Given the description of an element on the screen output the (x, y) to click on. 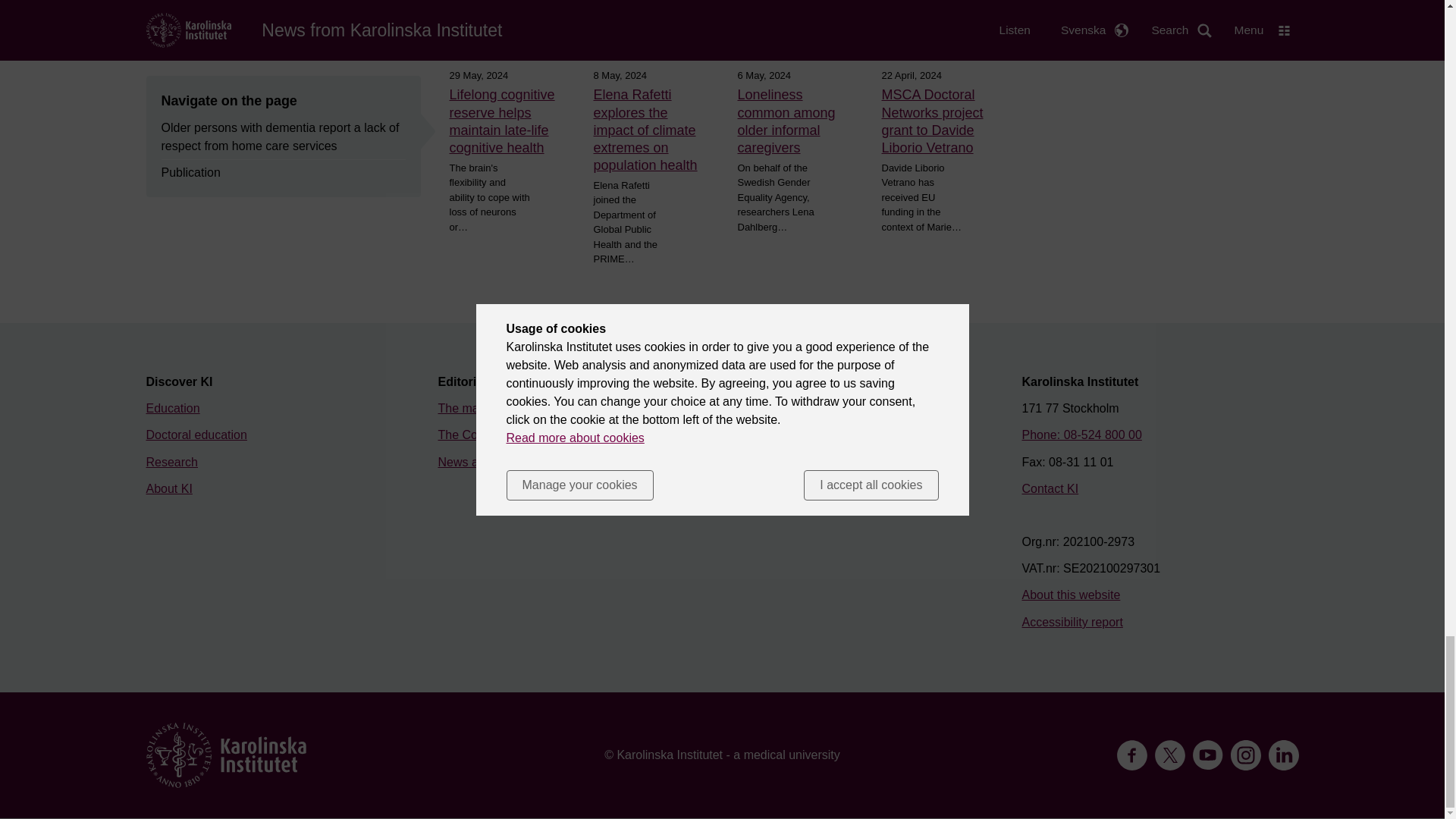
Home (225, 754)
Education (172, 408)
Loneliness common among older informal caregivers (793, 121)
